Given the description of an element on the screen output the (x, y) to click on. 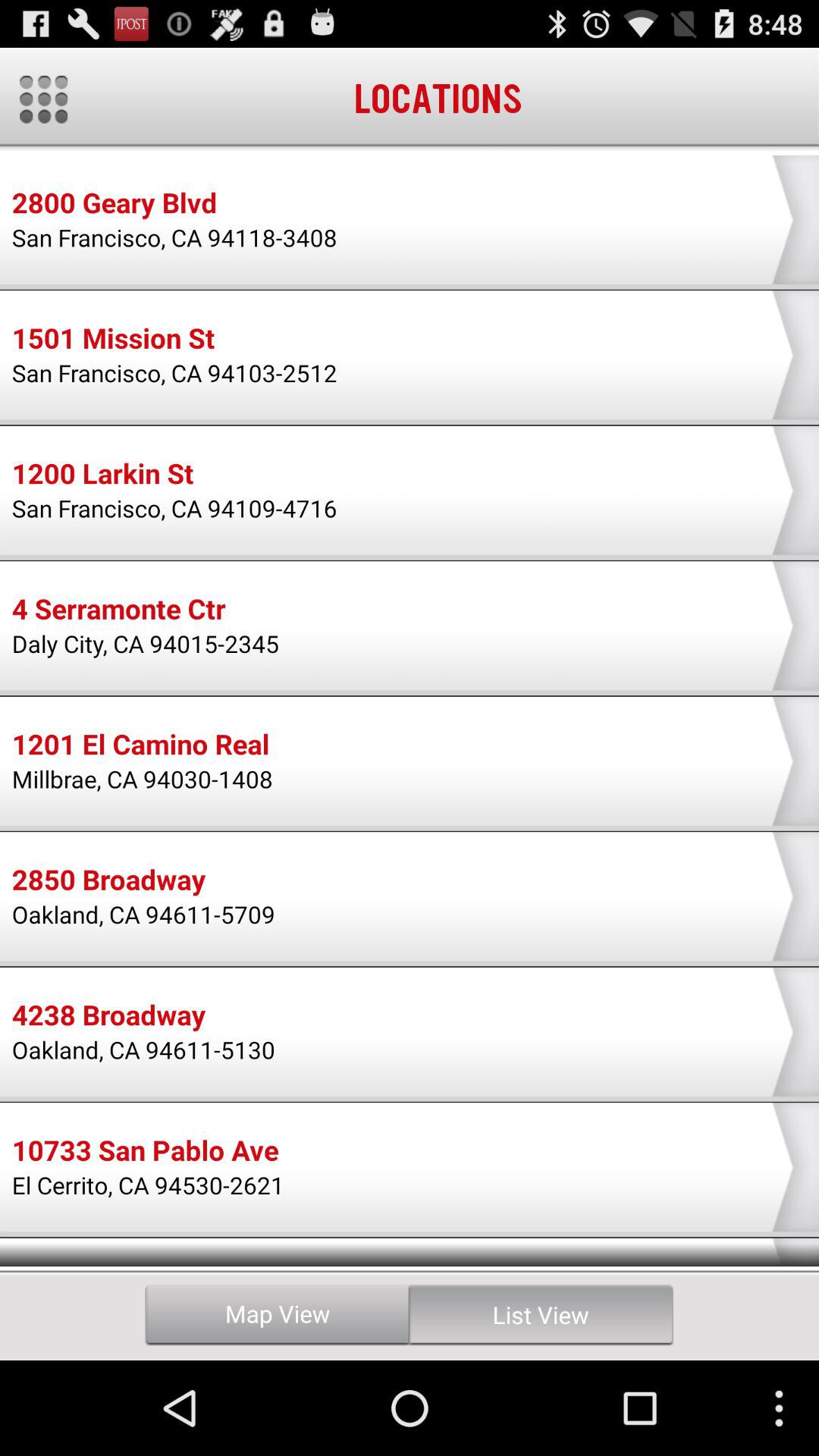
turn off app below the 4 serramonte ctr icon (145, 643)
